Given the description of an element on the screen output the (x, y) to click on. 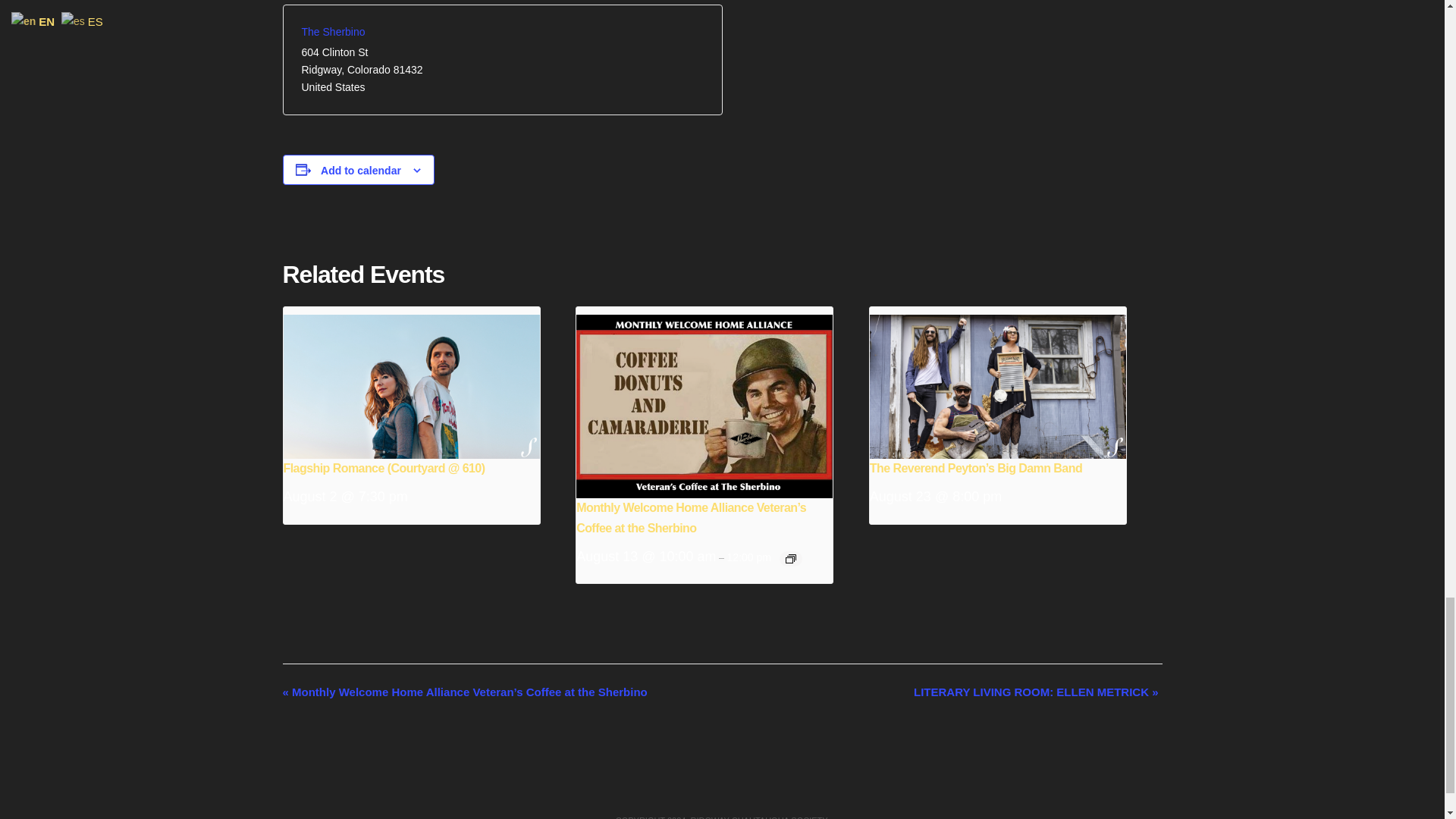
Event Series (791, 558)
Colorado (368, 69)
The Sherbino (333, 31)
